Given the description of an element on the screen output the (x, y) to click on. 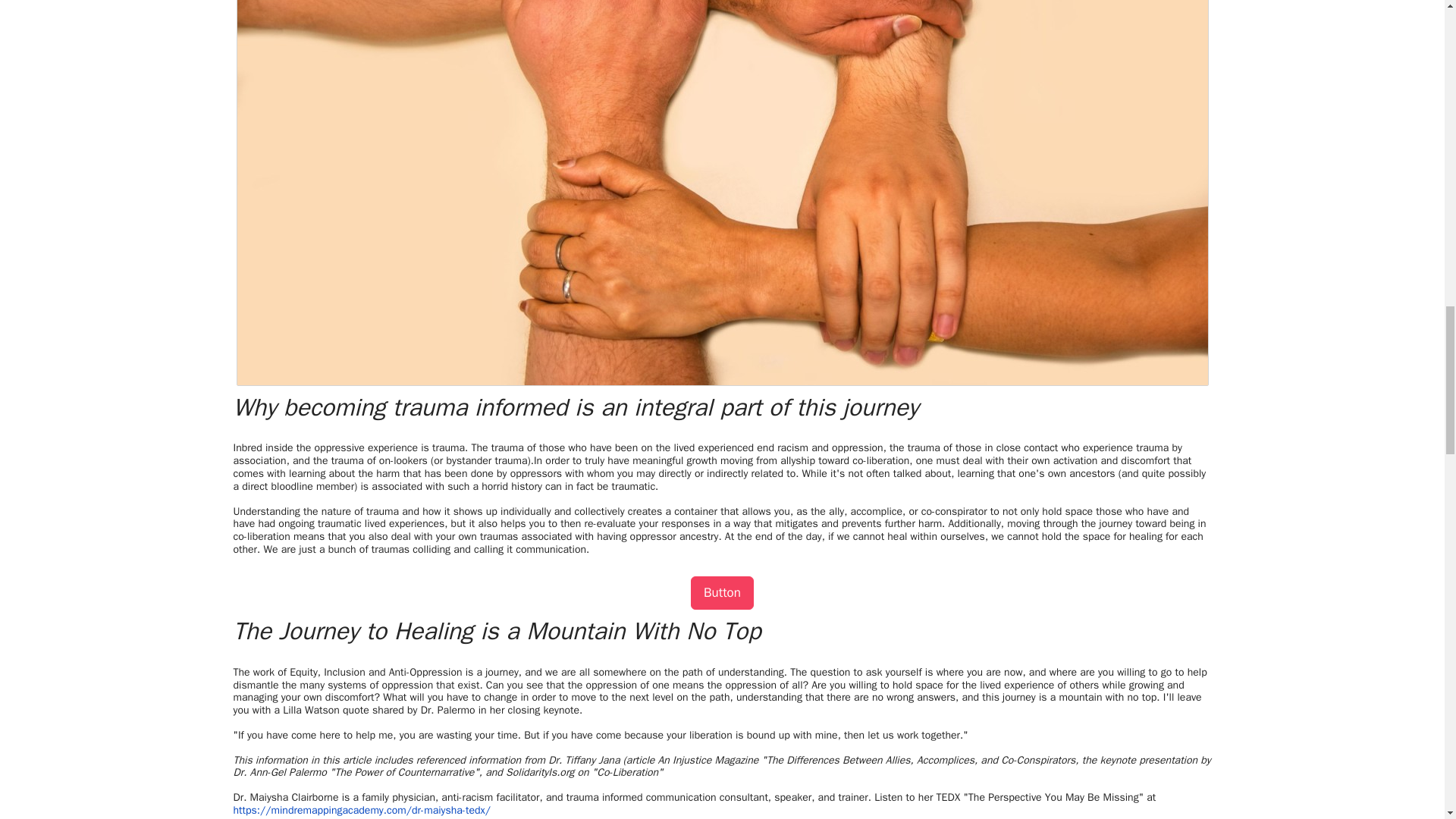
Button (722, 593)
